Given the description of an element on the screen output the (x, y) to click on. 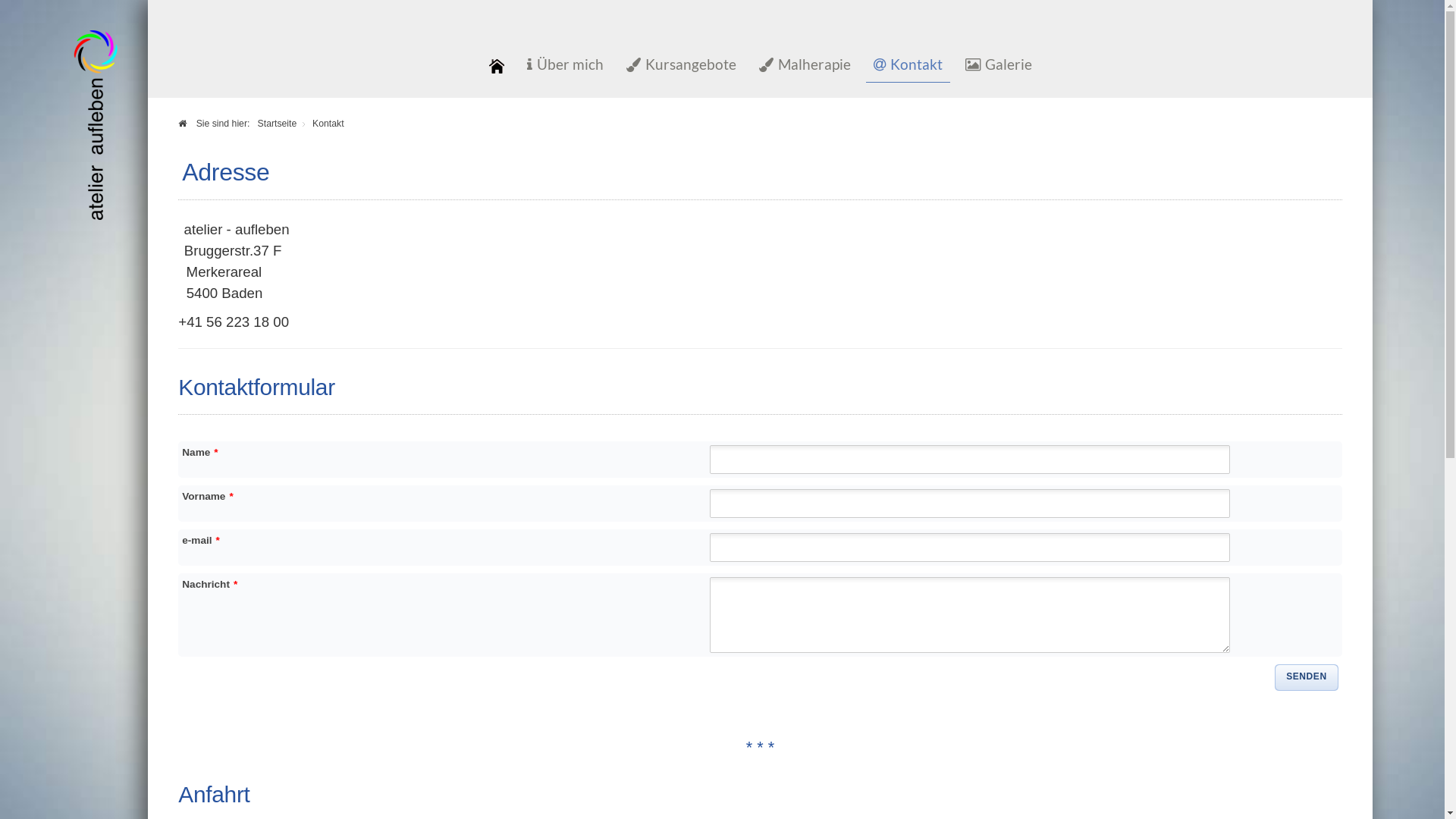
SENDEN Element type: text (1306, 677)
Kontakt Element type: text (908, 66)
Galerie Element type: text (997, 66)
Startseite Element type: text (277, 123)
Kursangebote Element type: text (680, 66)
Malherapie Element type: text (803, 66)
